Given the description of an element on the screen output the (x, y) to click on. 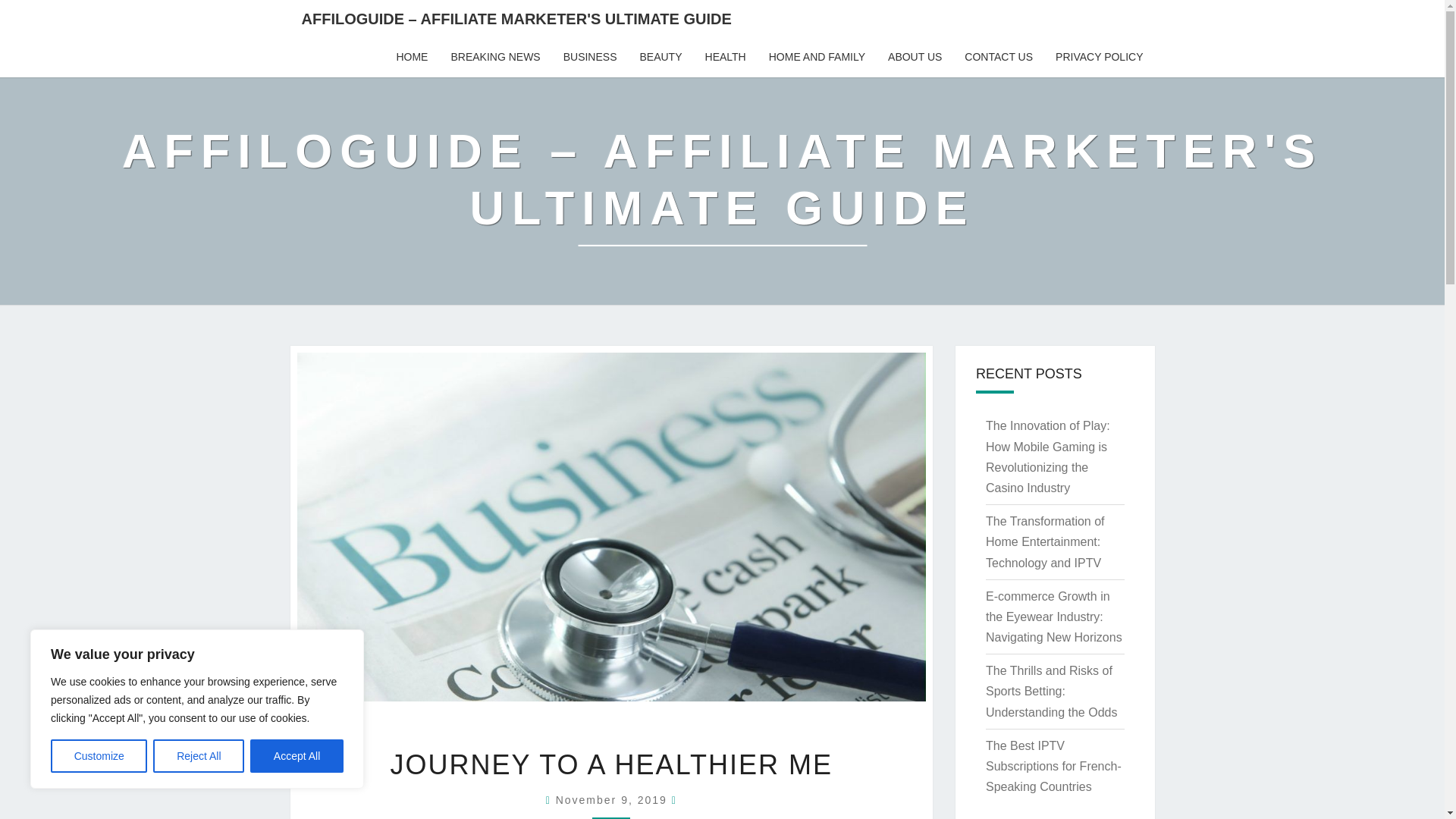
ABOUT US (914, 56)
HEALTH (725, 56)
PRIVACY POLICY (1098, 56)
BREAKING NEWS (495, 56)
The Best IPTV Subscriptions for French-Speaking Countries (1053, 766)
BEAUTY (660, 56)
Accept All (296, 756)
HOME (411, 56)
